Given the description of an element on the screen output the (x, y) to click on. 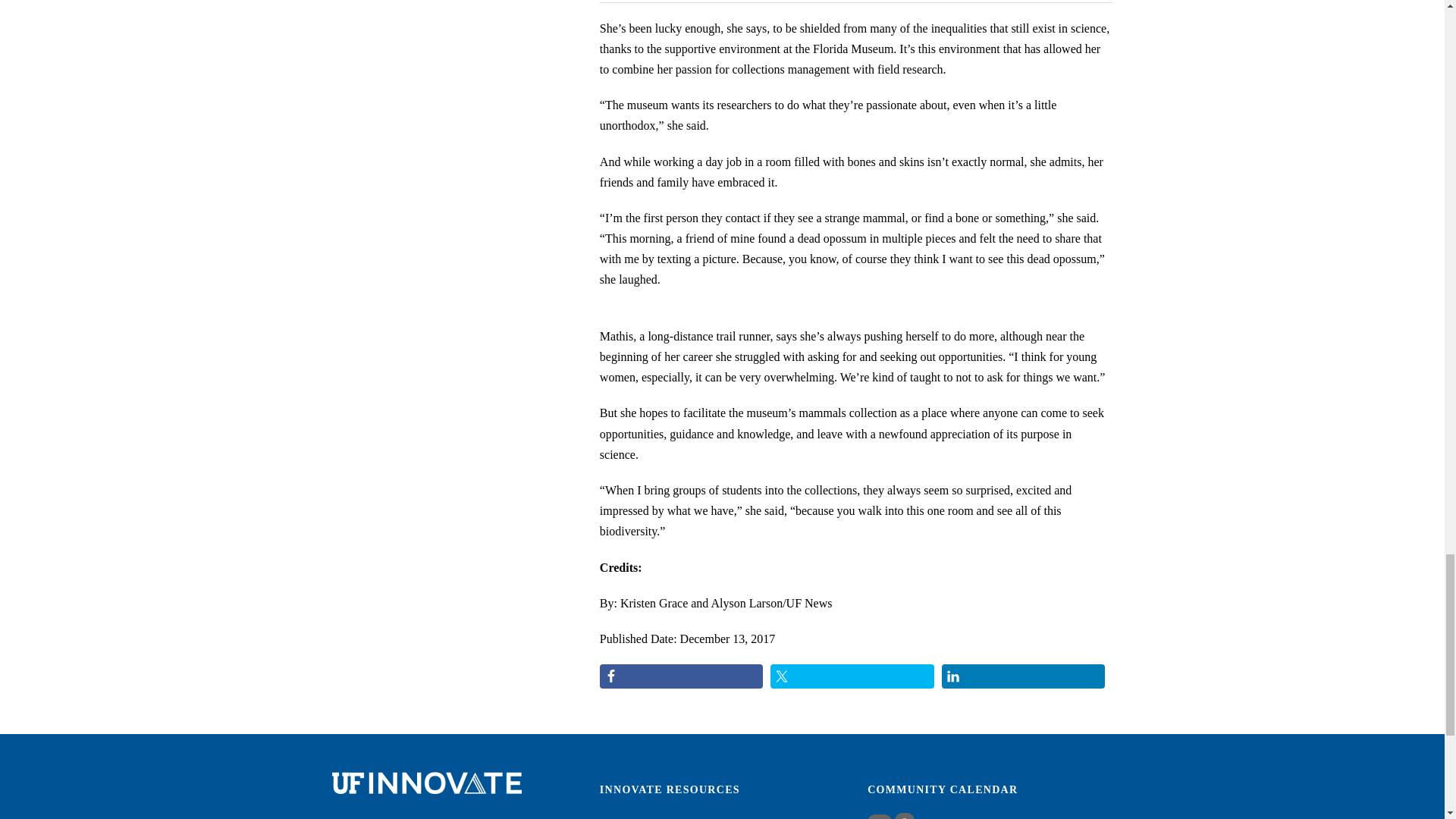
Share on LinkedIn (1023, 676)
Share on Twitter (852, 676)
Share on Facebook (680, 676)
